Given the description of an element on the screen output the (x, y) to click on. 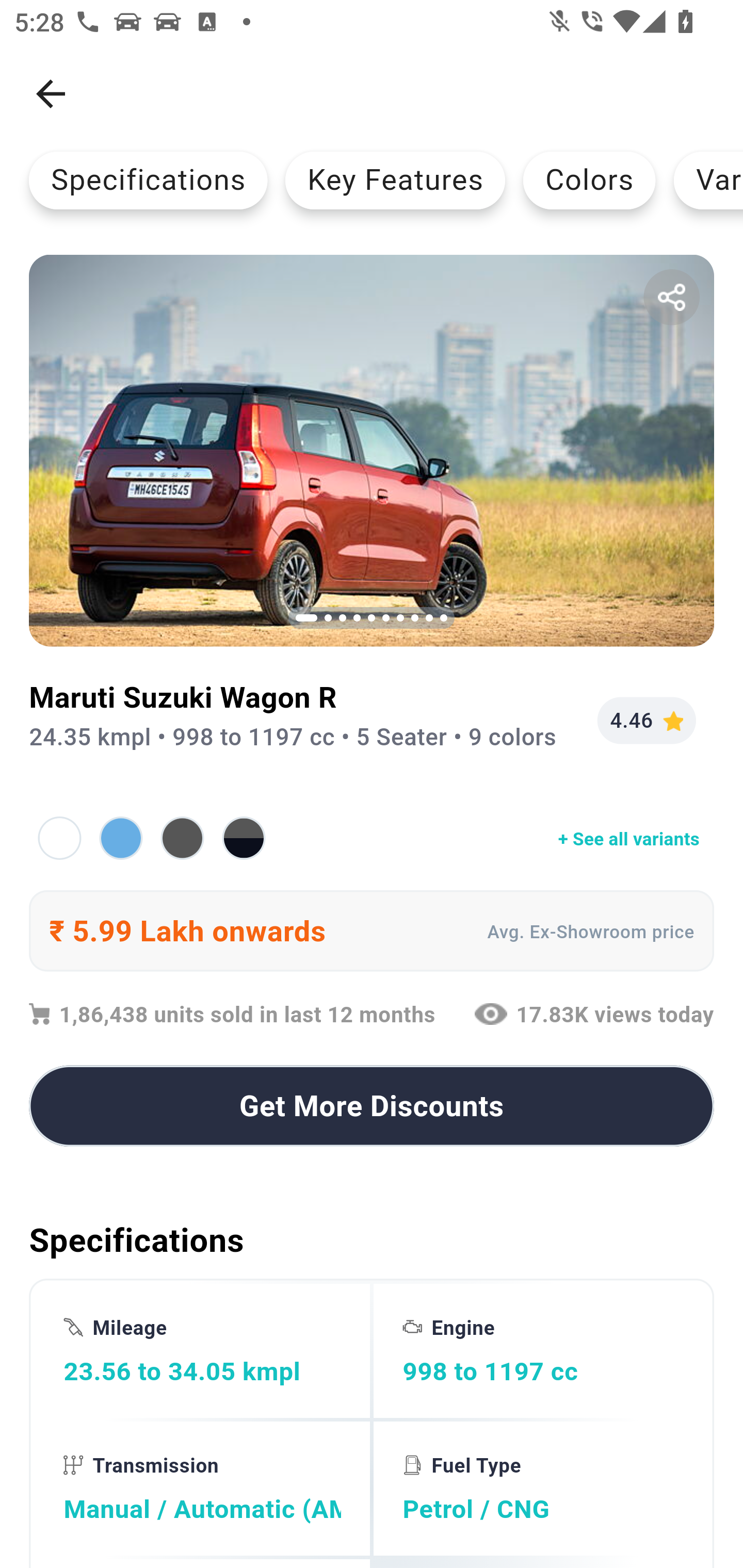
Back (50, 93)
Specifications (147, 180)
Key Features (395, 180)
Colors (589, 180)
+ See all variants (371, 837)
Mileage 23.56 to 34.05 kmpl (202, 1350)
Engine 998 to 1197 cc (540, 1350)
Transmission Manual / Automatic (AMT) (202, 1488)
Fuel Type Petrol / CNG (540, 1488)
